Given the description of an element on the screen output the (x, y) to click on. 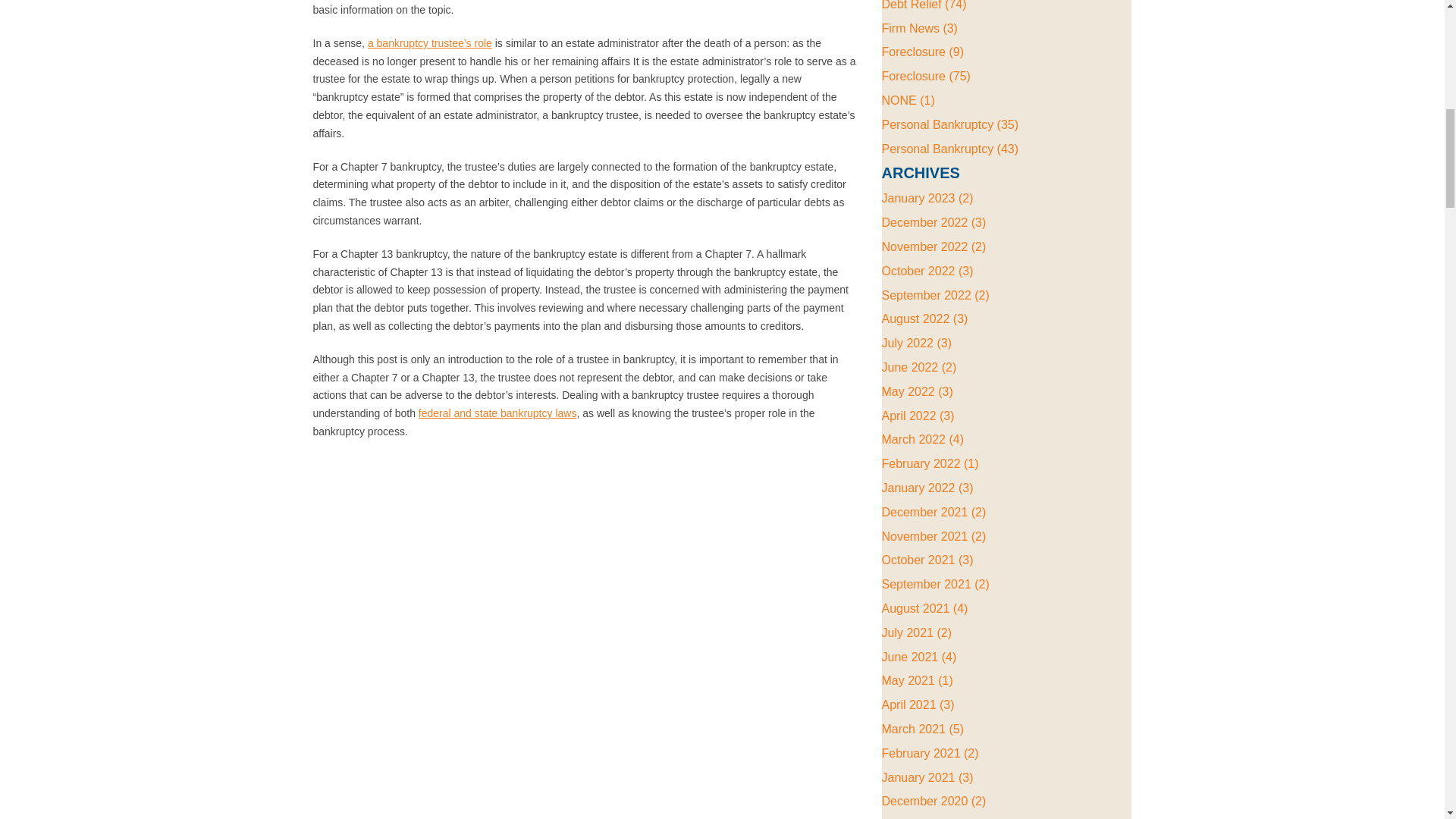
federal and state bankruptcy laws (497, 413)
